Given the description of an element on the screen output the (x, y) to click on. 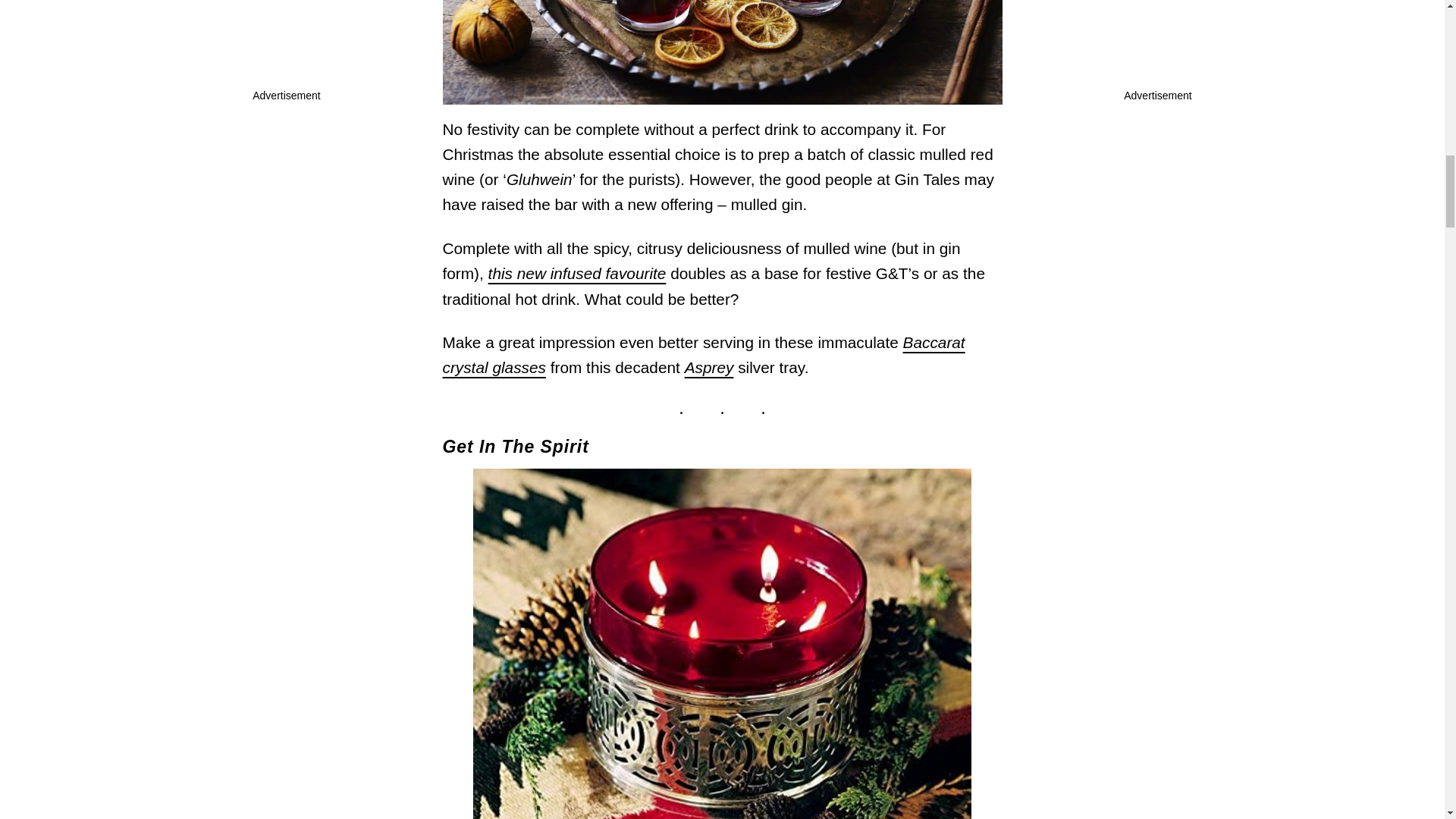
this new infused favourite (576, 272)
Baccarat crystal glasses (703, 354)
Asprey (708, 366)
